Given the description of an element on the screen output the (x, y) to click on. 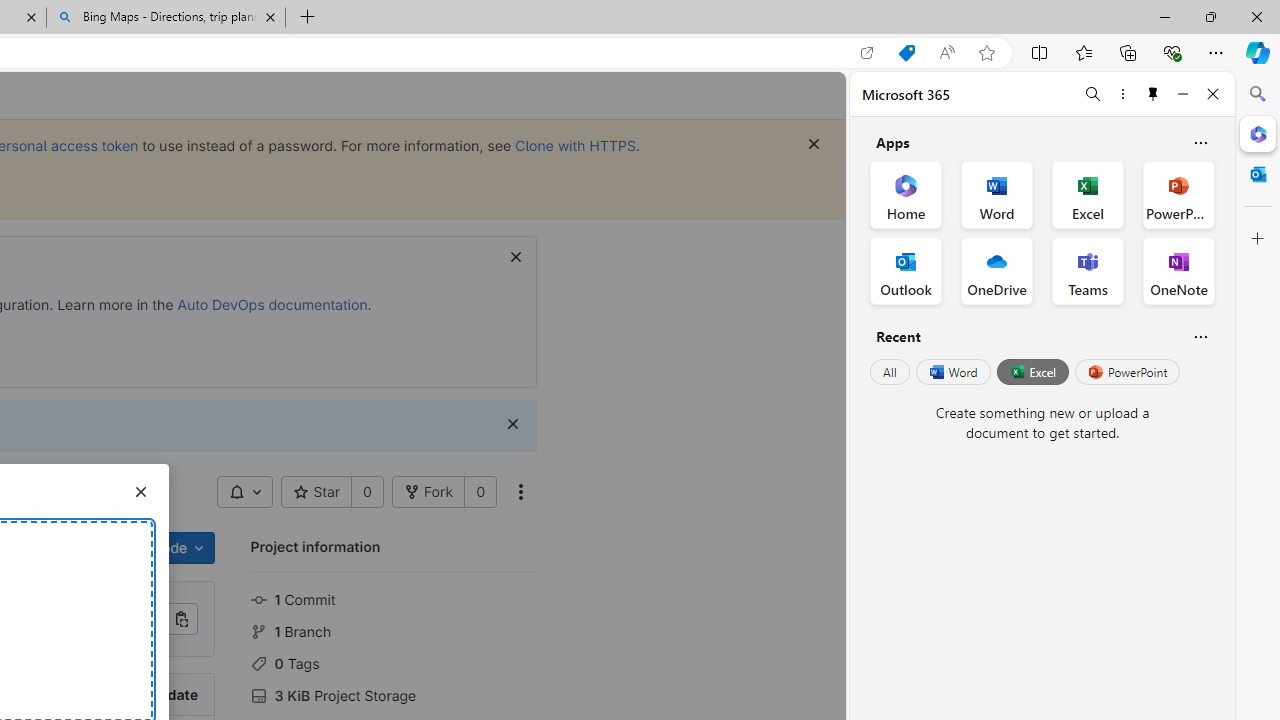
Code (177, 547)
Is this helpful? (1200, 336)
Open in app (867, 53)
Class: s16 icon gl-mr-3 gl-text-gray-500 (258, 696)
Home Office App (906, 194)
3 KiB Project Storage (395, 693)
More actions (521, 491)
Auto DevOps documentation (272, 304)
Word Office App (996, 194)
Excel Office App (1087, 194)
Clone with HTTPS (575, 145)
